Given the description of an element on the screen output the (x, y) to click on. 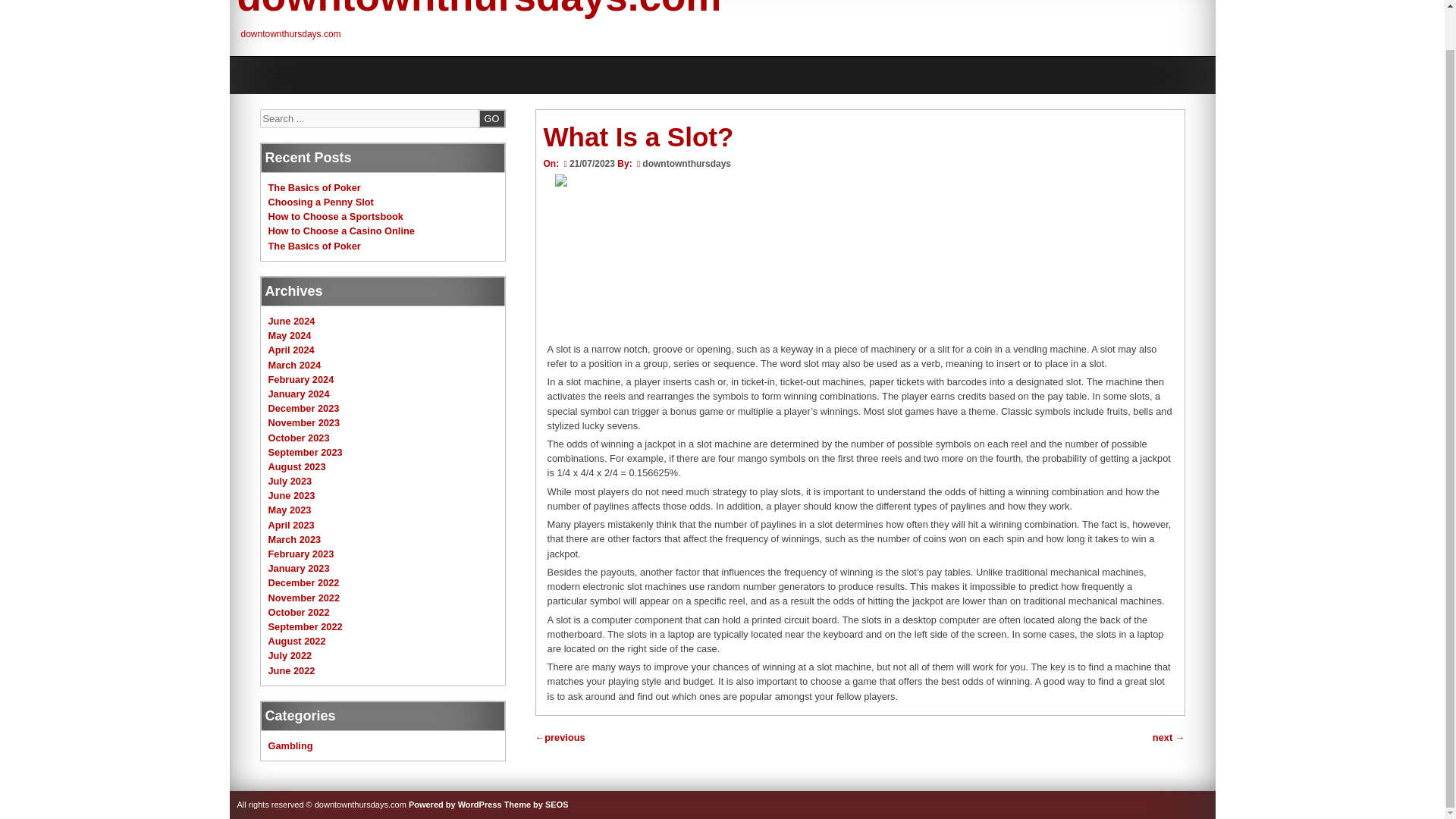
December 2022 (303, 582)
September 2022 (304, 626)
Gambling (290, 745)
August 2023 (296, 466)
How to Choose a Sportsbook (335, 215)
GO (492, 117)
Choosing a Penny Slot (320, 202)
January 2023 (298, 568)
October 2022 (298, 612)
April 2023 (290, 524)
